Given the description of an element on the screen output the (x, y) to click on. 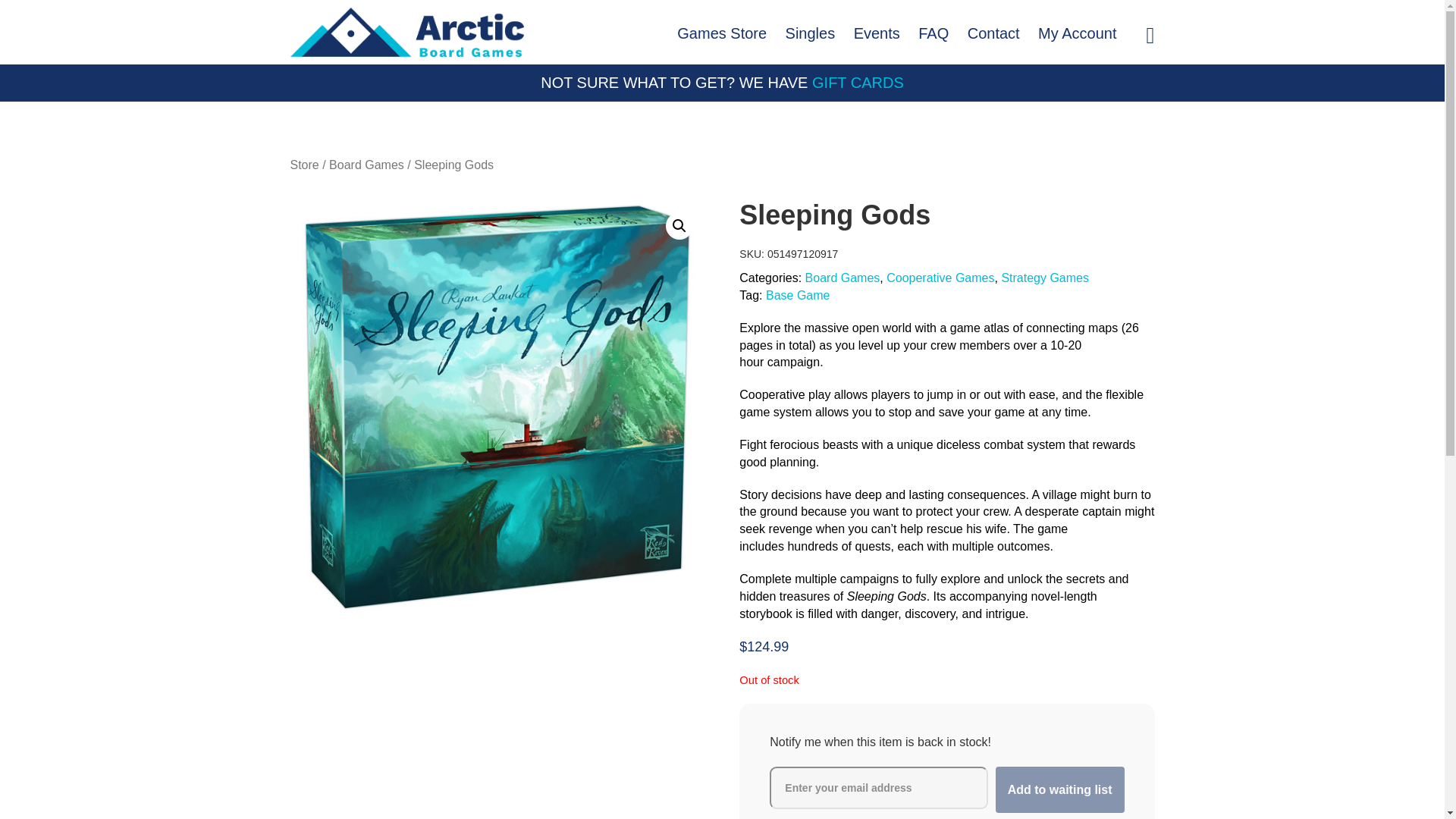
Add to waiting list (1059, 789)
Strategy Games (1045, 278)
Events (876, 33)
Board Games (366, 165)
Singles (810, 33)
Cooperative Games (940, 278)
GIFT CARDS (858, 83)
Board Games (842, 278)
Contact (993, 33)
Base Game (797, 295)
Store (303, 165)
Add to waiting list (1059, 789)
Games Store (721, 33)
My Account (1077, 33)
